Given the description of an element on the screen output the (x, y) to click on. 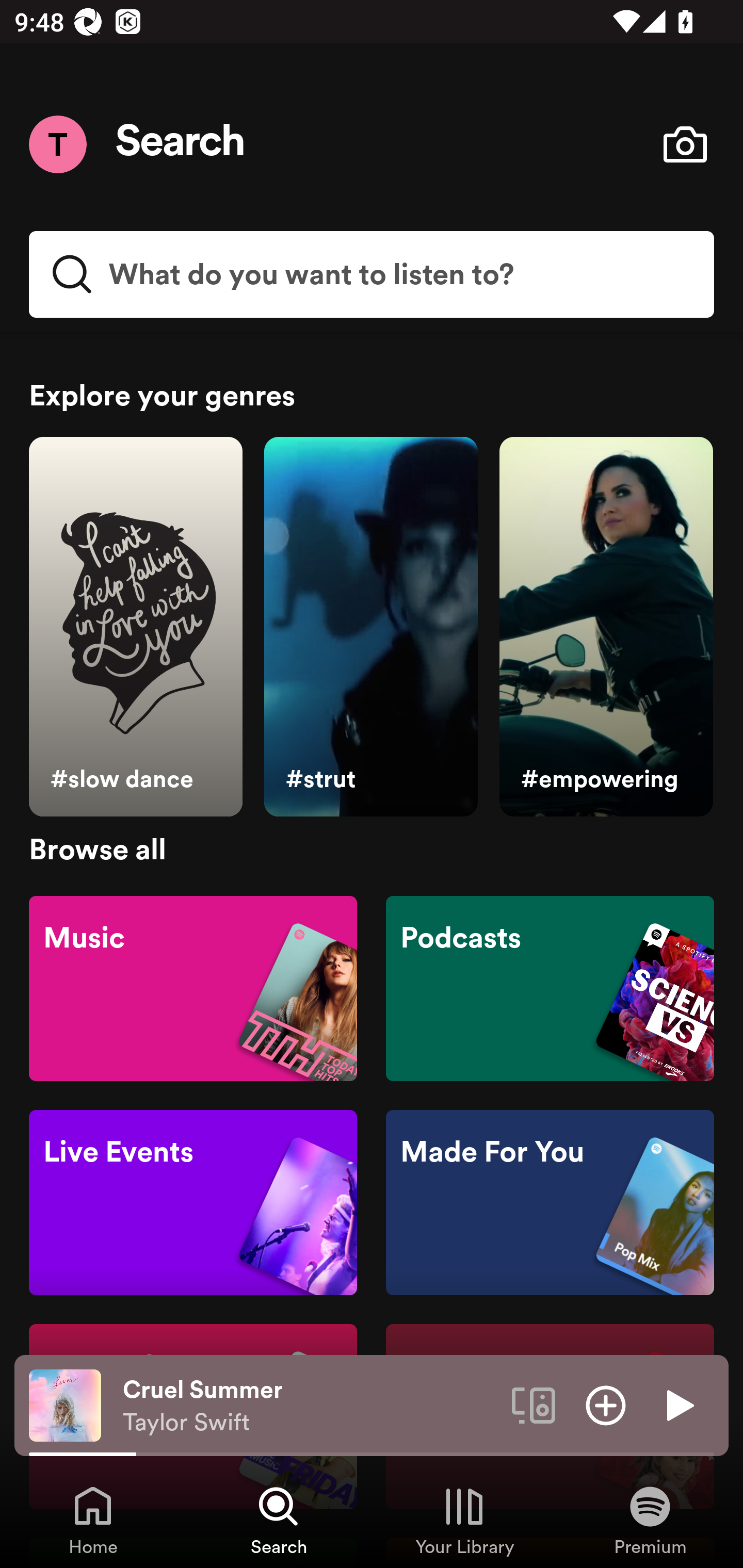
Menu (57, 144)
Open camera (685, 145)
Search (180, 144)
#slow dance (135, 626)
#strut (370, 626)
#empowering (606, 626)
Music (192, 987)
Podcasts (549, 987)
Live Events (192, 1202)
Made For You (549, 1202)
Cruel Summer Taylor Swift (309, 1405)
The cover art of the currently playing track (64, 1404)
Connect to a device. Opens the devices menu (533, 1404)
Add item (605, 1404)
Play (677, 1404)
Home, Tab 1 of 4 Home Home (92, 1519)
Search, Tab 2 of 4 Search Search (278, 1519)
Your Library, Tab 3 of 4 Your Library Your Library (464, 1519)
Premium, Tab 4 of 4 Premium Premium (650, 1519)
